Given the description of an element on the screen output the (x, y) to click on. 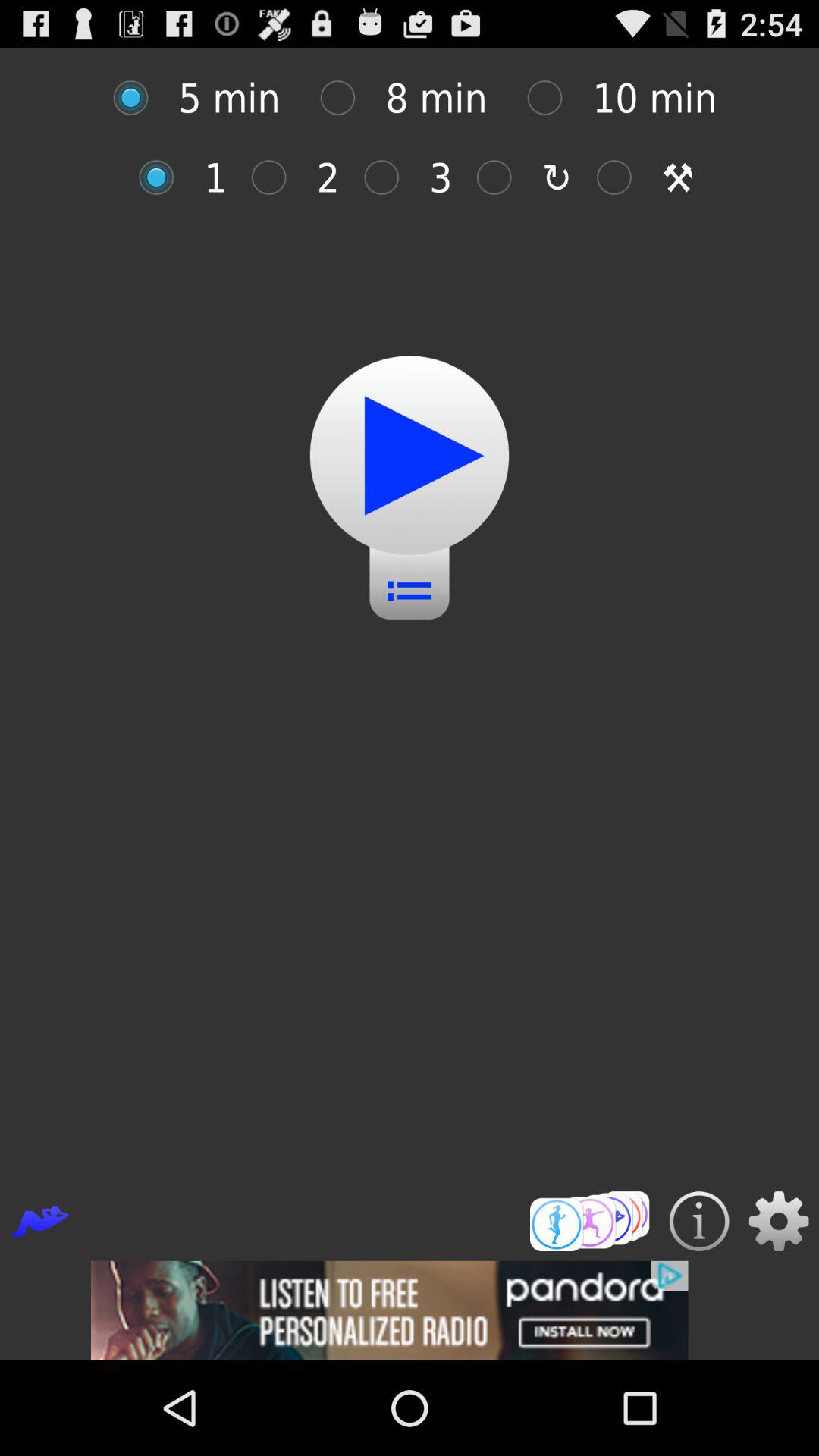
10 min option (552, 97)
